Given the description of an element on the screen output the (x, y) to click on. 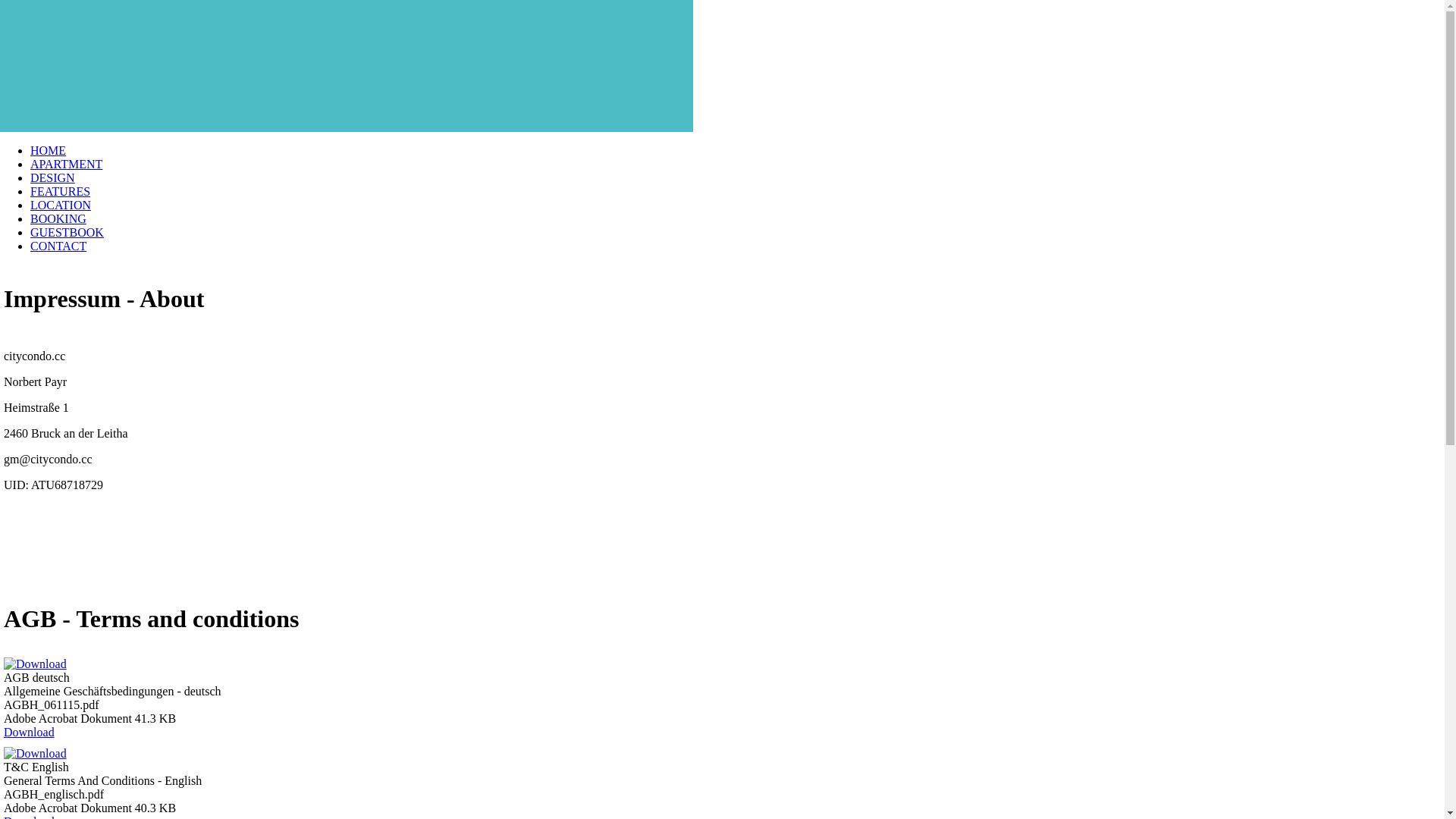
FEATURES Element type: text (60, 191)
Download Element type: text (28, 731)
GUESTBOOK Element type: text (66, 231)
DESIGN Element type: text (52, 177)
BOOKING Element type: text (58, 218)
LOCATION Element type: text (60, 204)
CONTACT Element type: text (58, 245)
APARTMENT Element type: text (66, 163)
HOME Element type: text (47, 150)
